Given the description of an element on the screen output the (x, y) to click on. 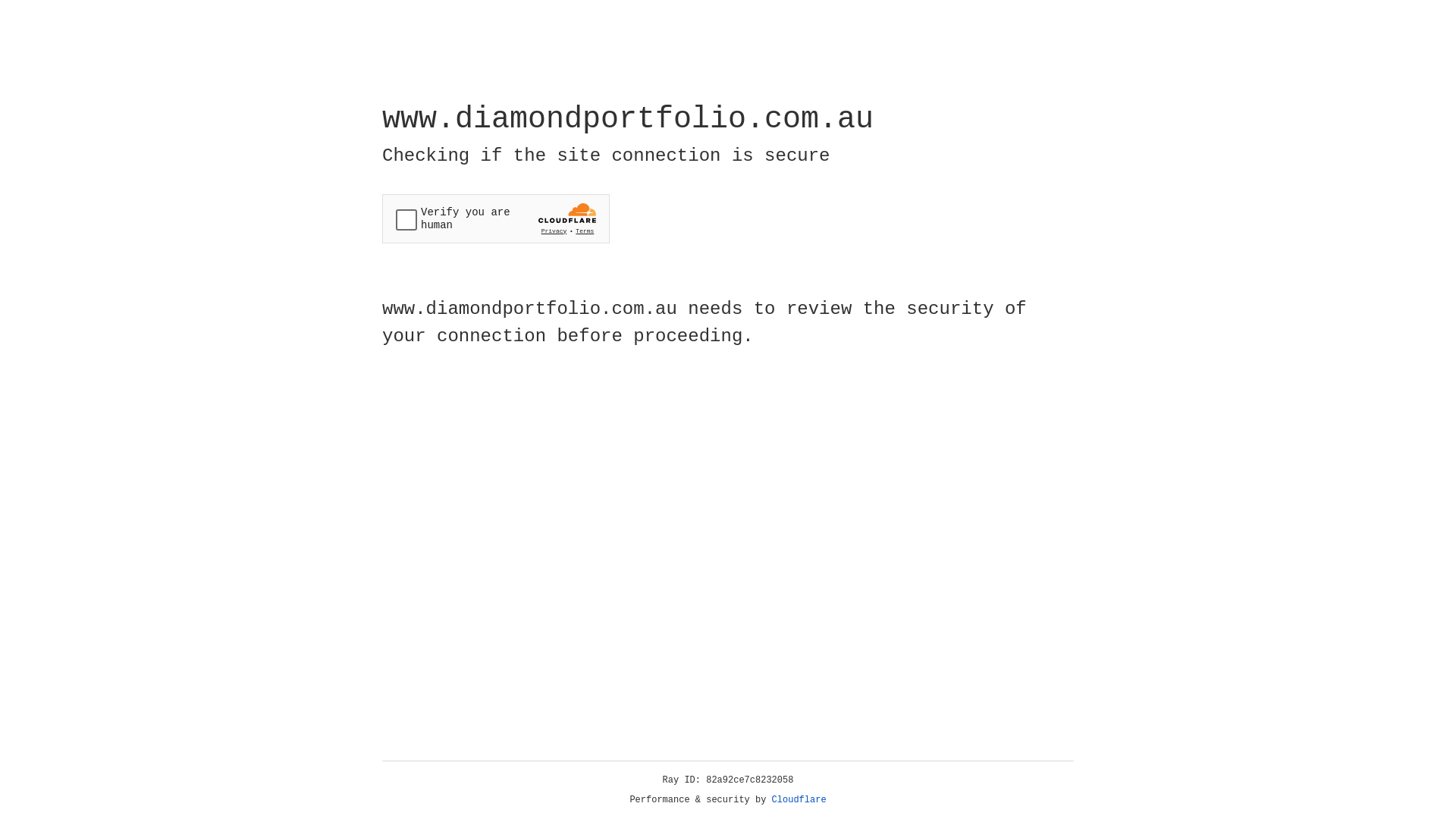
Cloudflare Element type: text (798, 799)
Widget containing a Cloudflare security challenge Element type: hover (495, 218)
